Given the description of an element on the screen output the (x, y) to click on. 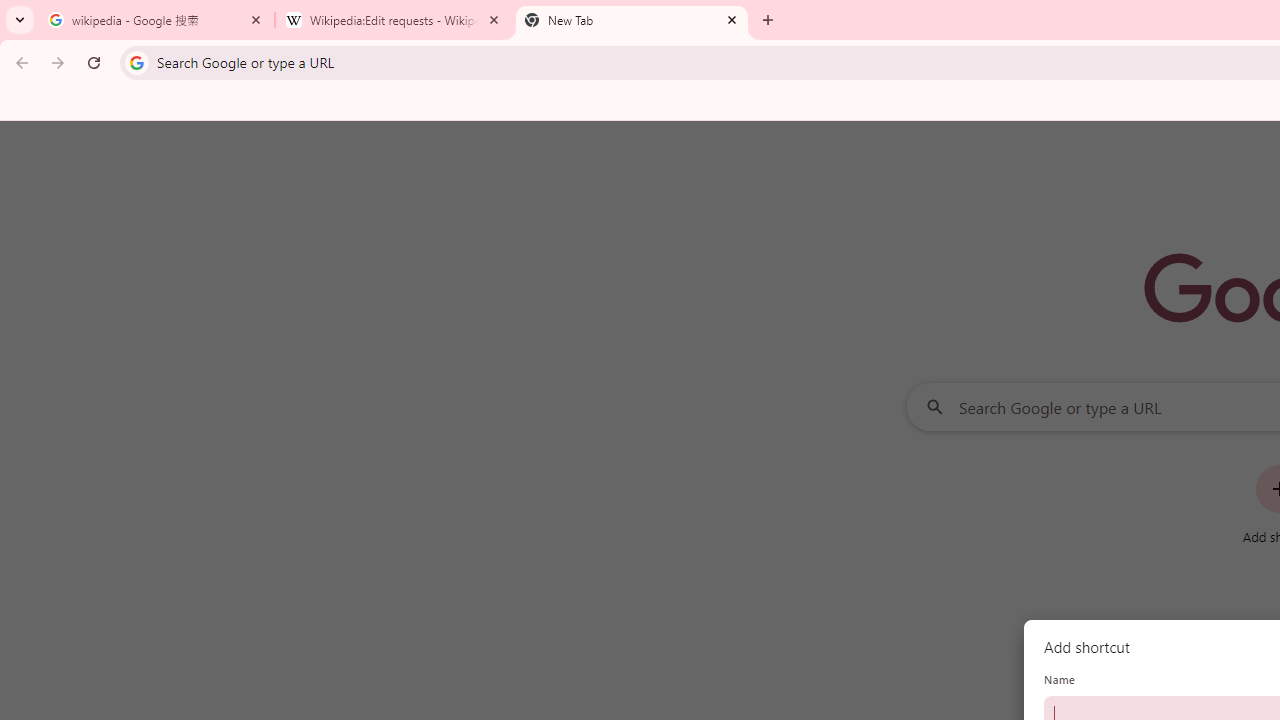
New Tab (632, 20)
Wikipedia:Edit requests - Wikipedia (394, 20)
